Given the description of an element on the screen output the (x, y) to click on. 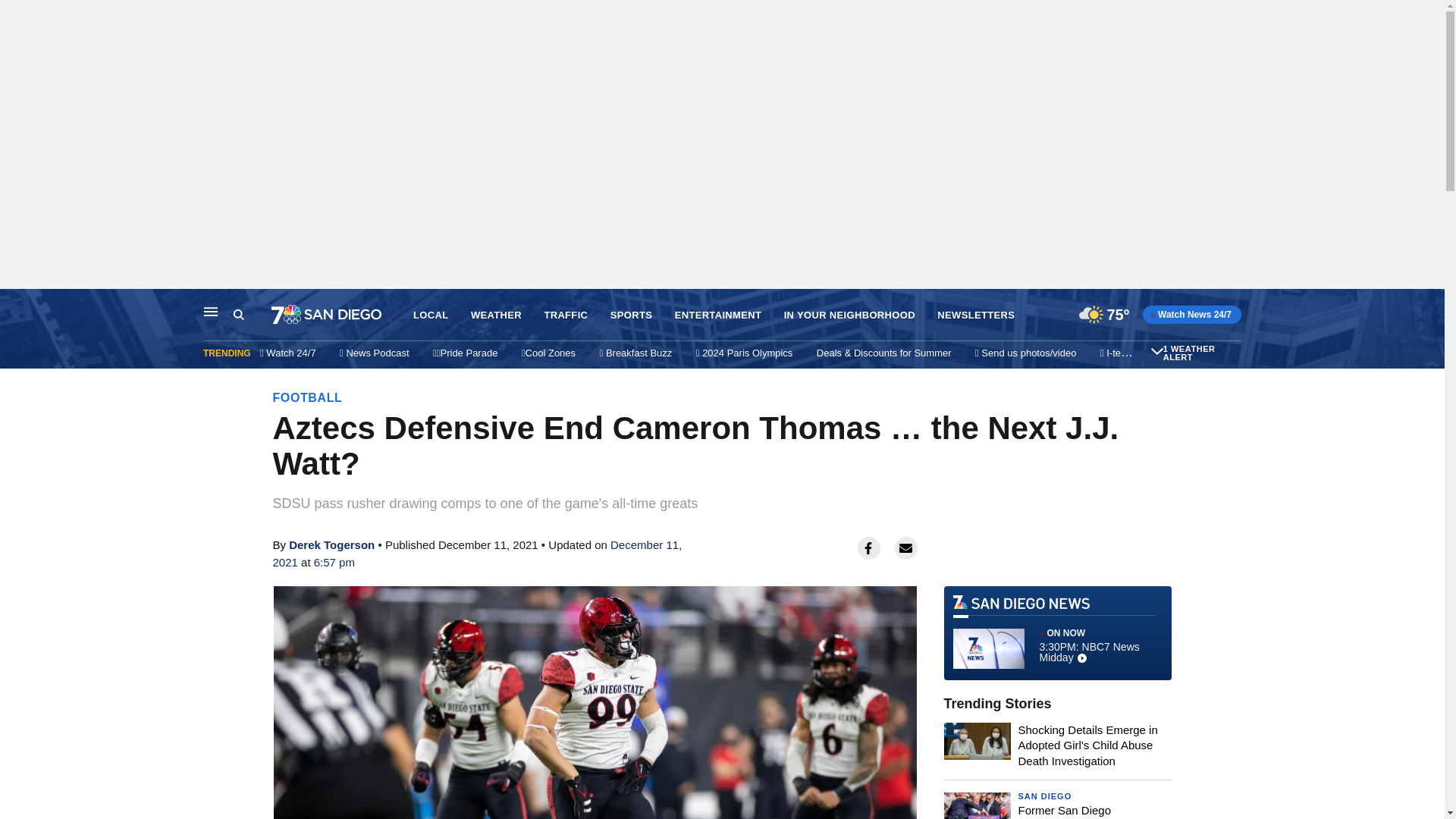
IN YOUR NEIGHBORHOOD (849, 315)
Main Navigation (210, 311)
Search (238, 314)
Expand (1157, 350)
FOOTBALL (307, 397)
WEATHER (495, 315)
Derek Togerson (331, 544)
TRAFFIC (565, 315)
1 WEATHER ALERT (1200, 352)
ENTERTAINMENT (718, 315)
Search (252, 314)
SPORTS (631, 315)
LOCAL (430, 315)
NEWSLETTERS (975, 315)
Skip to content (16, 304)
